Given the description of an element on the screen output the (x, y) to click on. 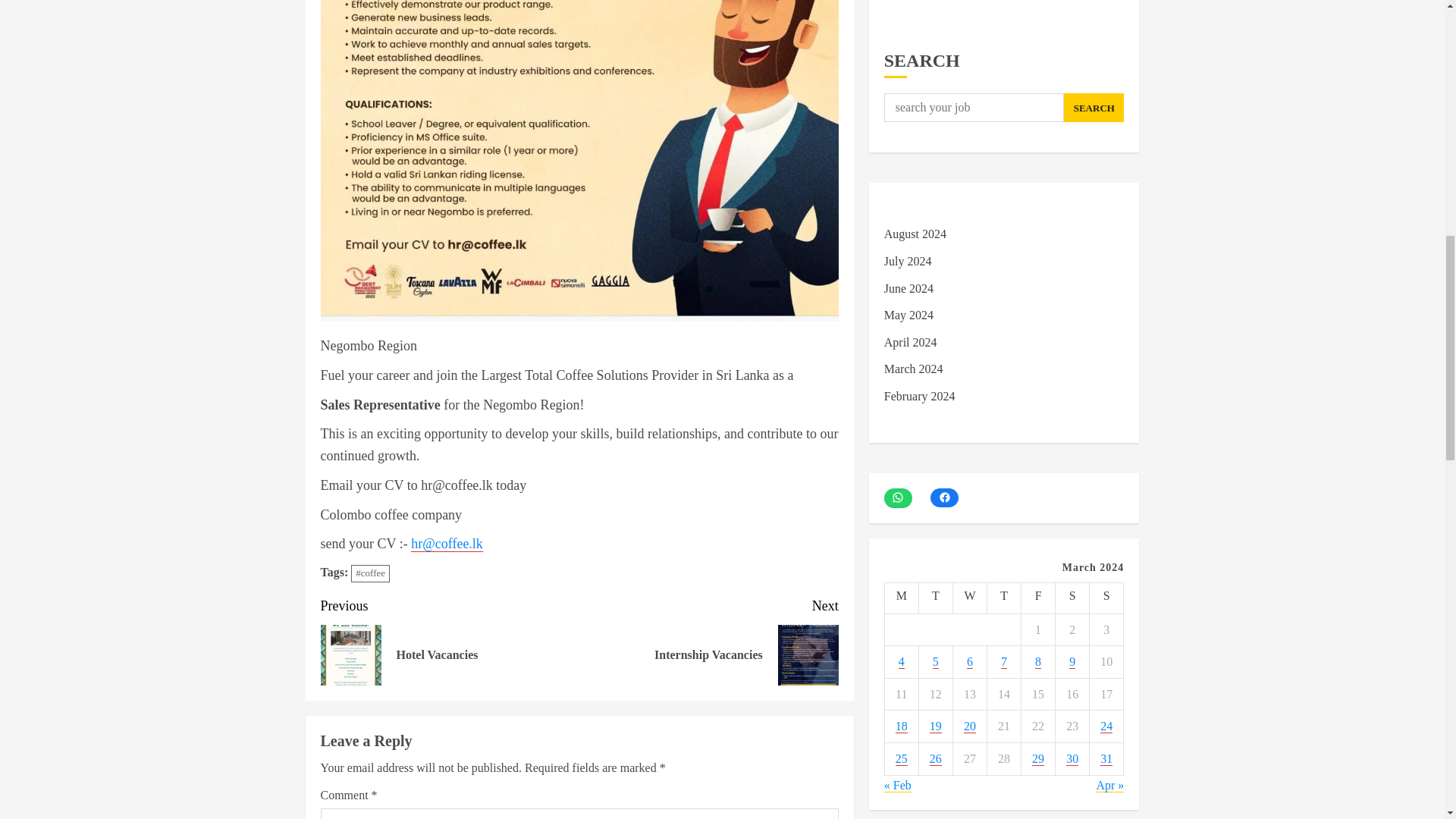
Monday (900, 597)
Saturday (1072, 597)
Friday (1038, 597)
Thursday (1003, 597)
Tuesday (449, 640)
Wednesday (935, 597)
Sunday (969, 597)
